Given the description of an element on the screen output the (x, y) to click on. 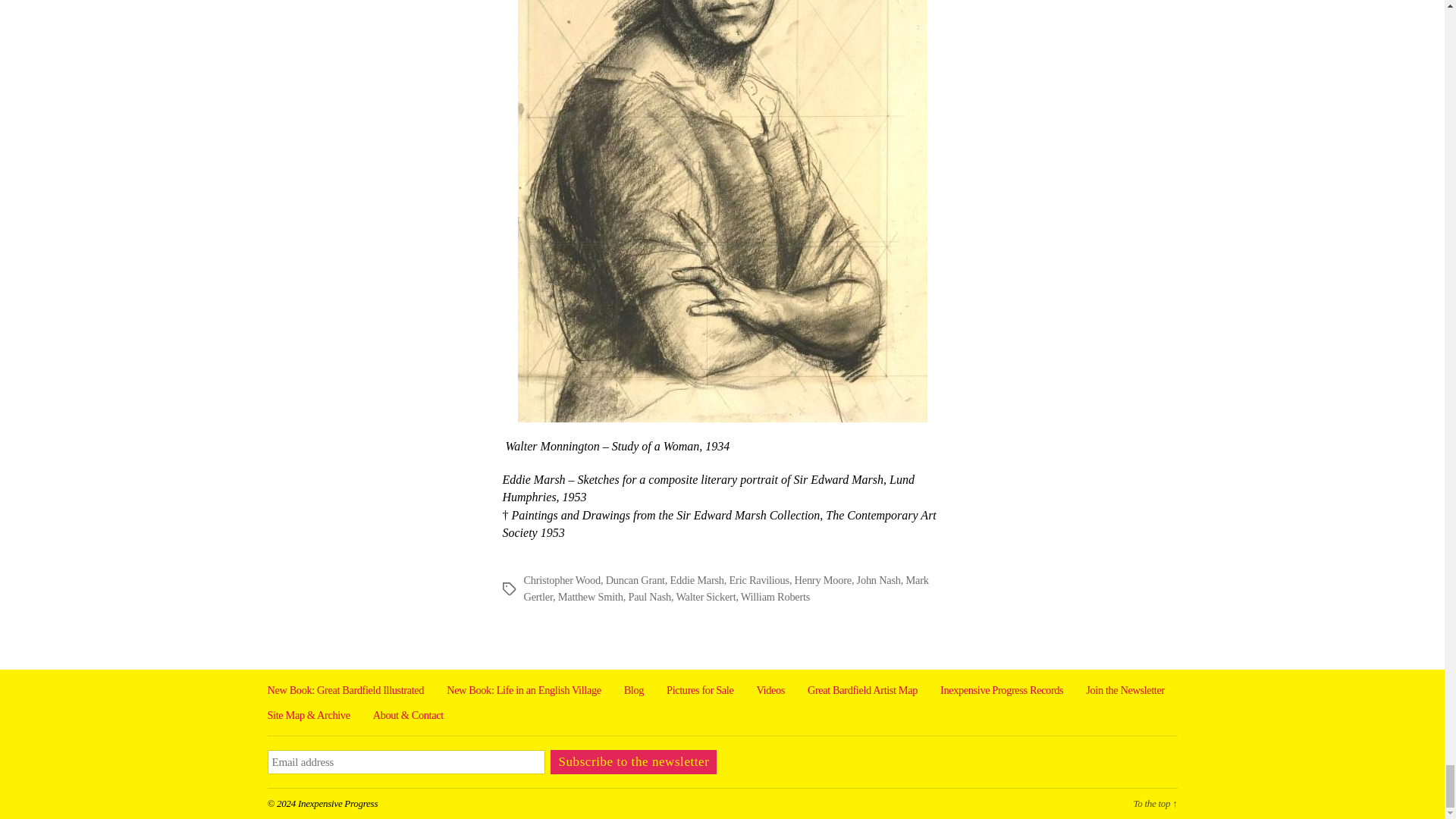
John Nash (879, 580)
Mark Gertler (725, 588)
Subscribe to the newsletter (633, 761)
Matthew Smith (590, 596)
Paul Nash (649, 596)
Duncan Grant (635, 580)
Henry Moore (822, 580)
Eric Ravilious (759, 580)
Eddie Marsh (696, 580)
Christopher Wood (560, 580)
